Given the description of an element on the screen output the (x, y) to click on. 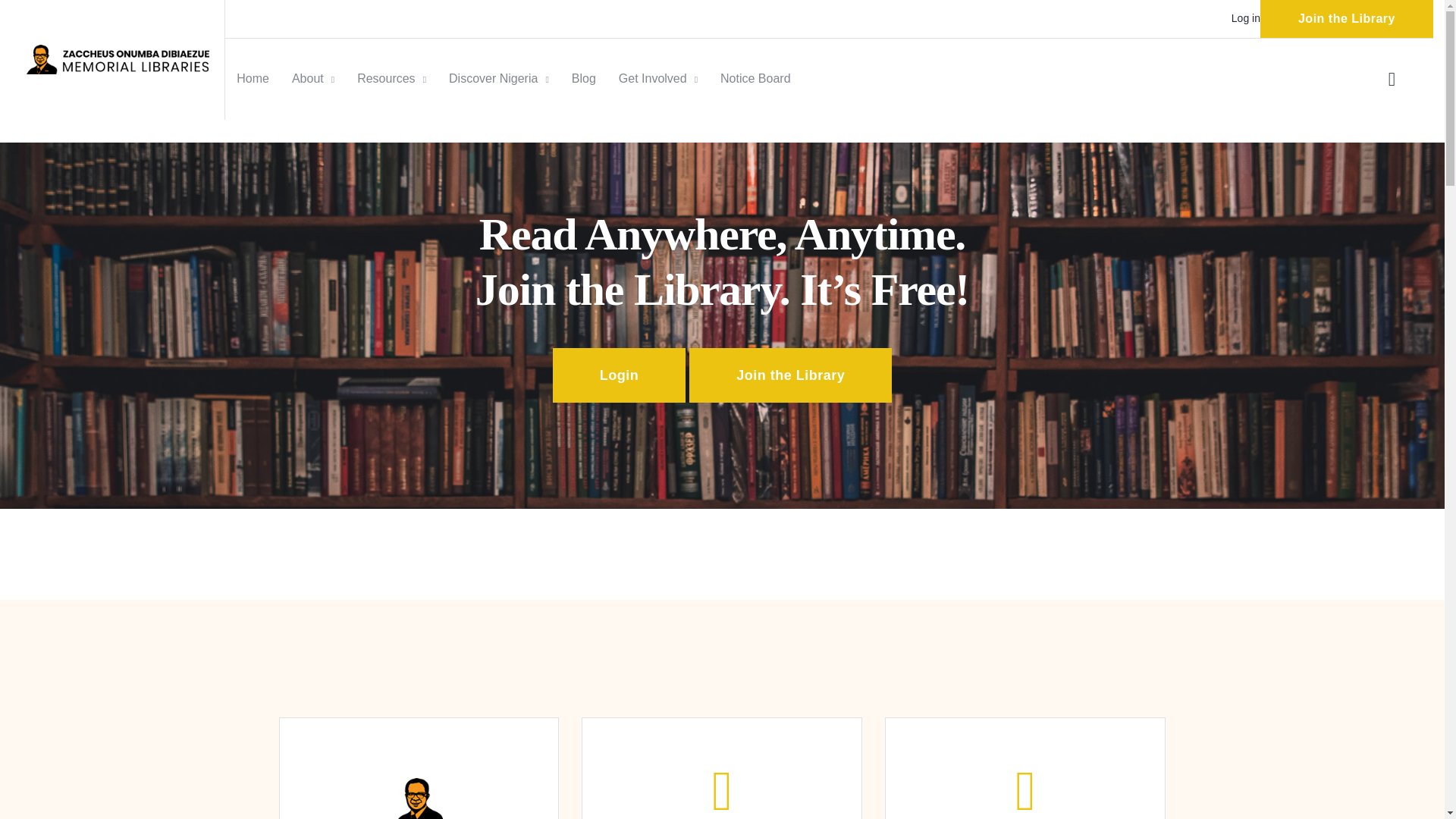
Get Involved (657, 78)
Resources (391, 78)
Home (252, 78)
Home (117, 59)
Discover Nigeria (498, 78)
Join the Library (789, 375)
Join the Library (1346, 18)
Blog (583, 78)
Login (619, 375)
Log in (1245, 18)
Notice Board (755, 78)
About (313, 78)
